Given the description of an element on the screen output the (x, y) to click on. 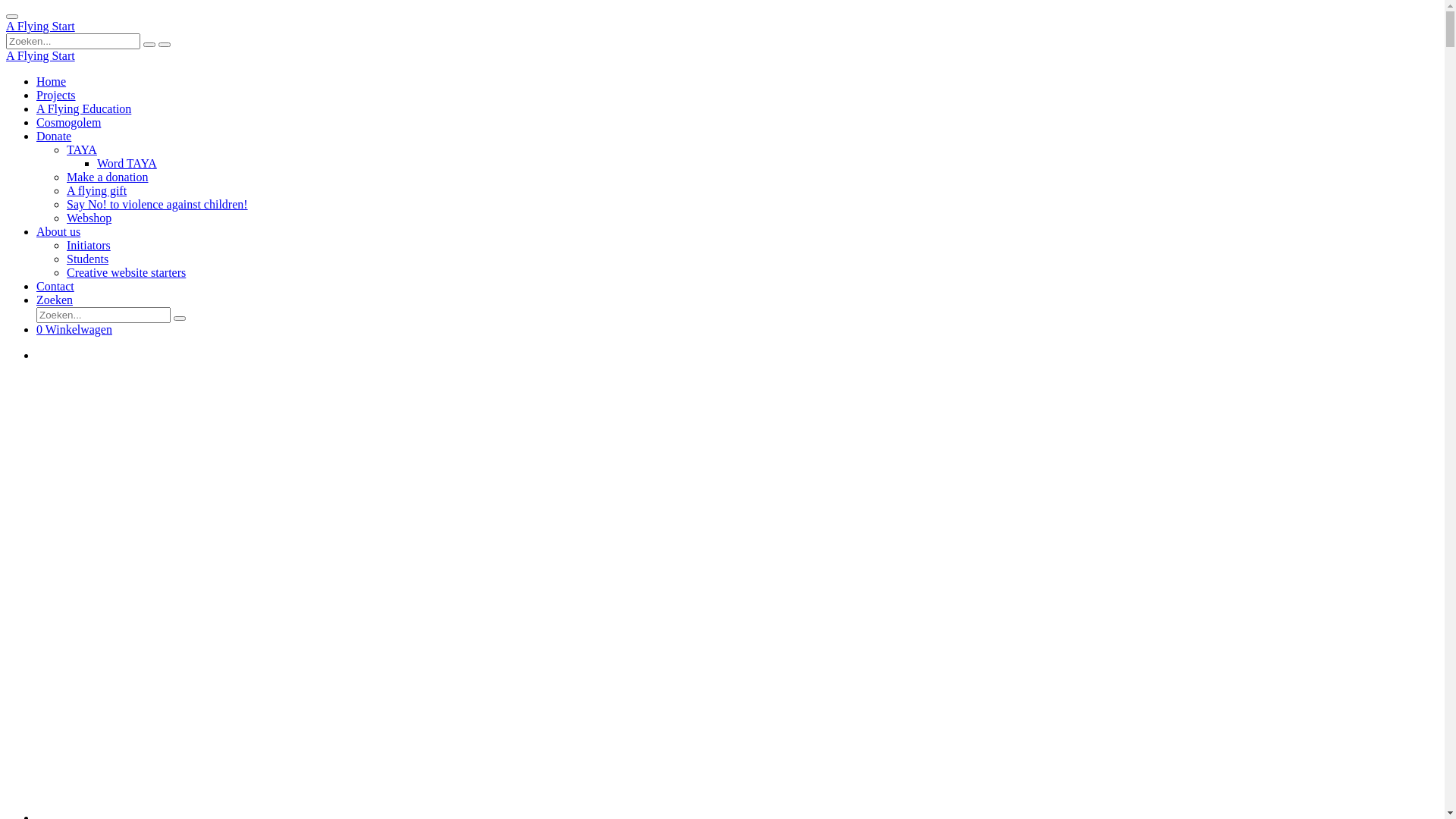
Donate Element type: text (53, 135)
0 Winkelwagen Element type: text (74, 329)
Word TAYA Element type: text (126, 162)
Make a donation Element type: text (107, 176)
Initiators Element type: text (88, 244)
A Flying Education Element type: text (83, 108)
A Flying Start Element type: text (40, 55)
A Flying Start Element type: text (40, 25)
Home Element type: text (50, 81)
Webshop Element type: text (88, 217)
Creative website starters Element type: text (125, 272)
Cosmogolem Element type: text (68, 122)
Projects Element type: text (55, 94)
TAYA Element type: text (81, 149)
A flying gift Element type: text (96, 190)
Say No! to violence against children! Element type: text (156, 203)
Contact Element type: text (55, 285)
Zoeken Element type: text (54, 299)
About us Element type: text (58, 231)
Students Element type: text (87, 258)
